Given the description of an element on the screen output the (x, y) to click on. 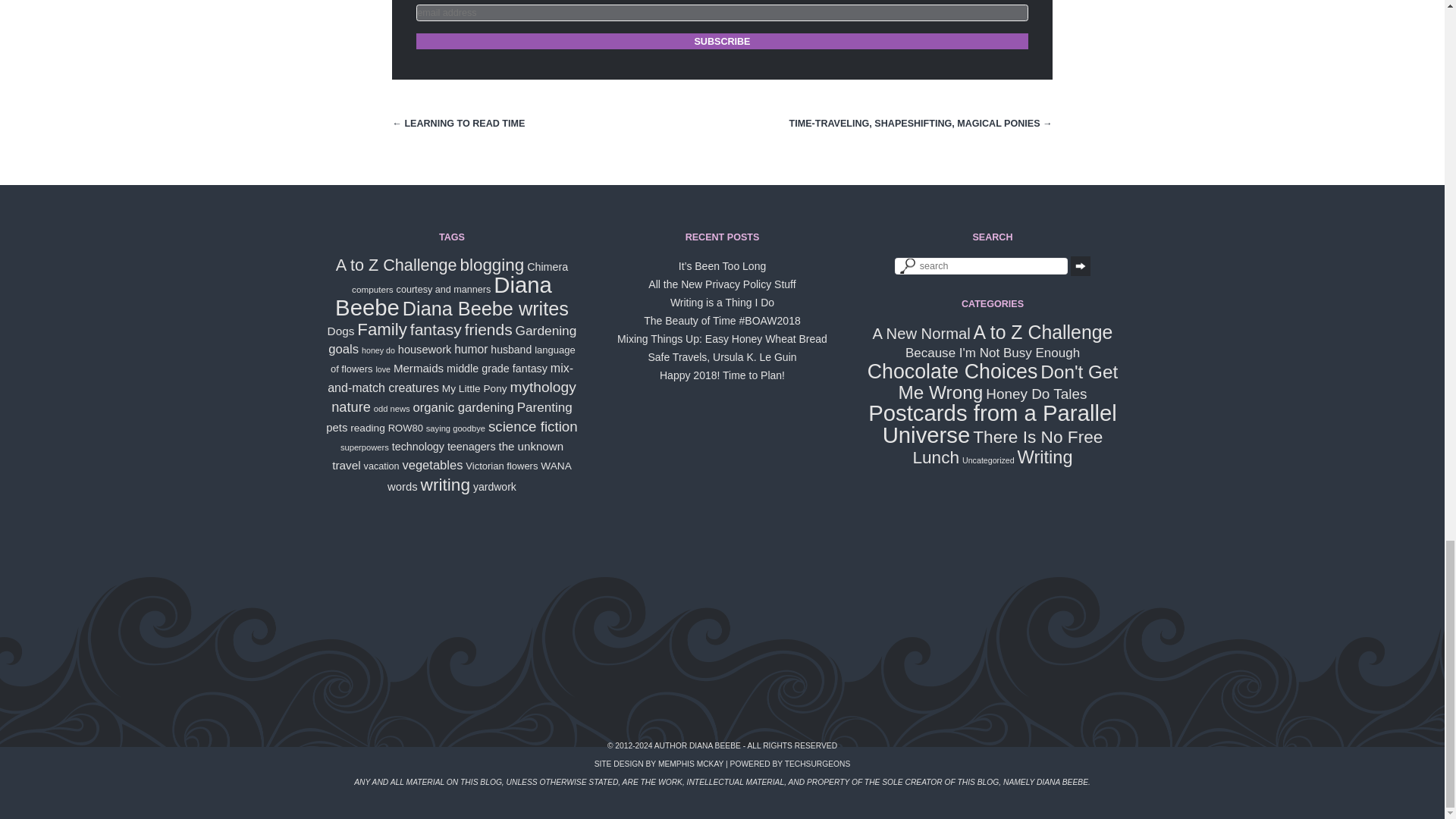
Subscribe (721, 41)
Search (1080, 266)
